Given the description of an element on the screen output the (x, y) to click on. 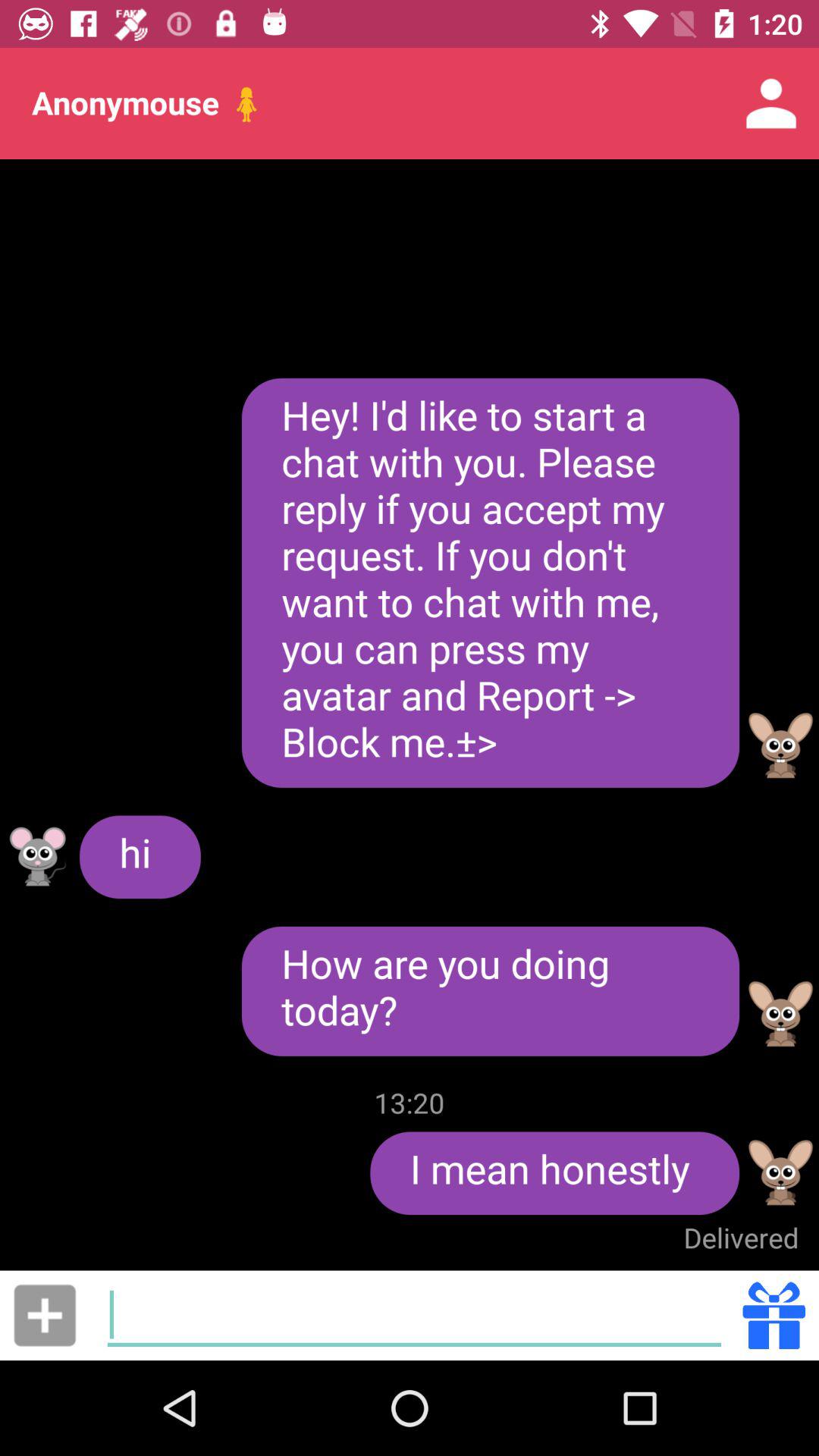
open i mean honestly (554, 1172)
